Given the description of an element on the screen output the (x, y) to click on. 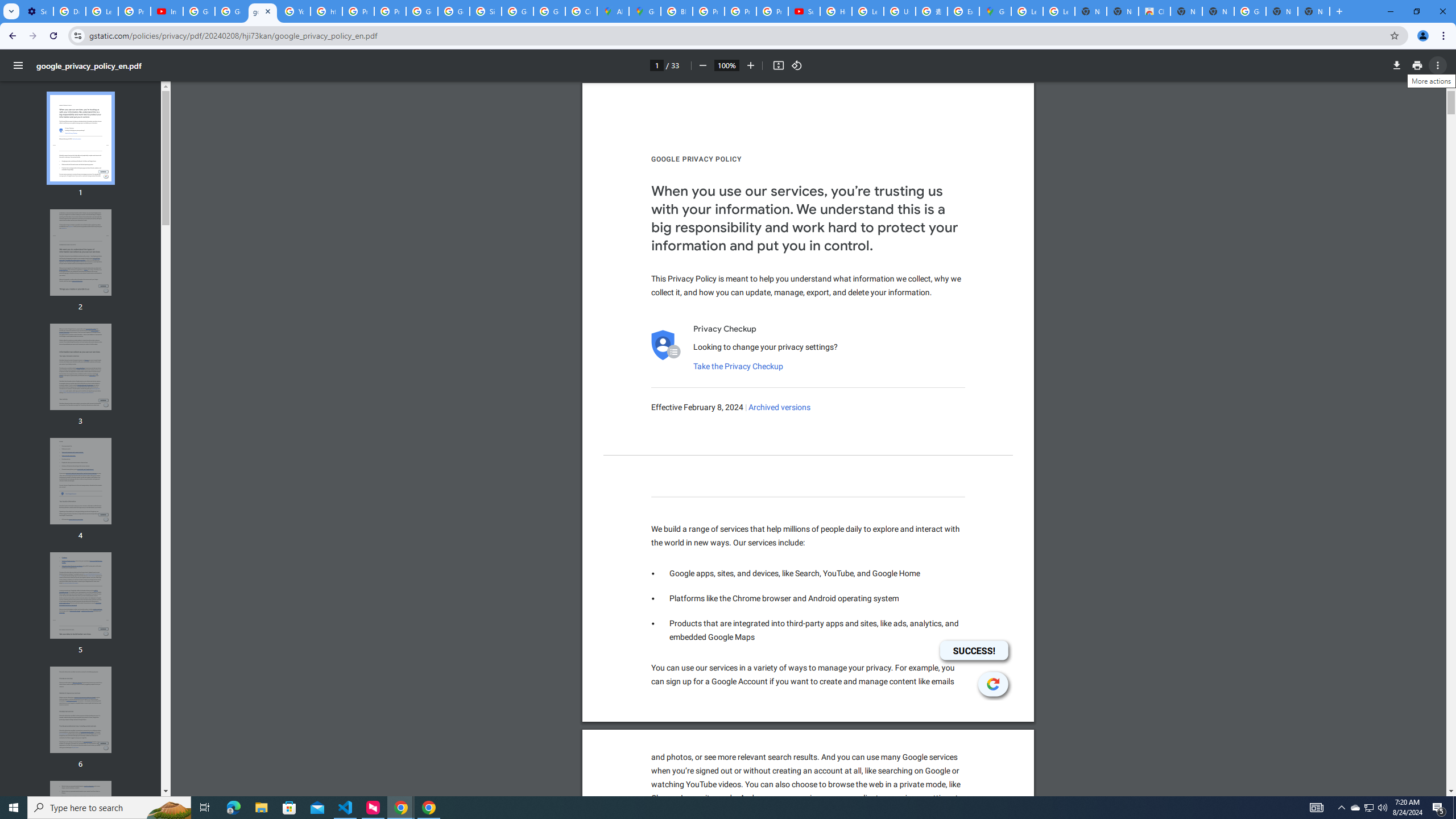
Google Maps (995, 11)
Thumbnail for page 2 (80, 252)
Thumbnail for page 4 (80, 481)
Google Maps (644, 11)
Privacy Help Center - Policies Help (708, 11)
More actions (1437, 65)
New Tab (1313, 11)
